Given the description of an element on the screen output the (x, y) to click on. 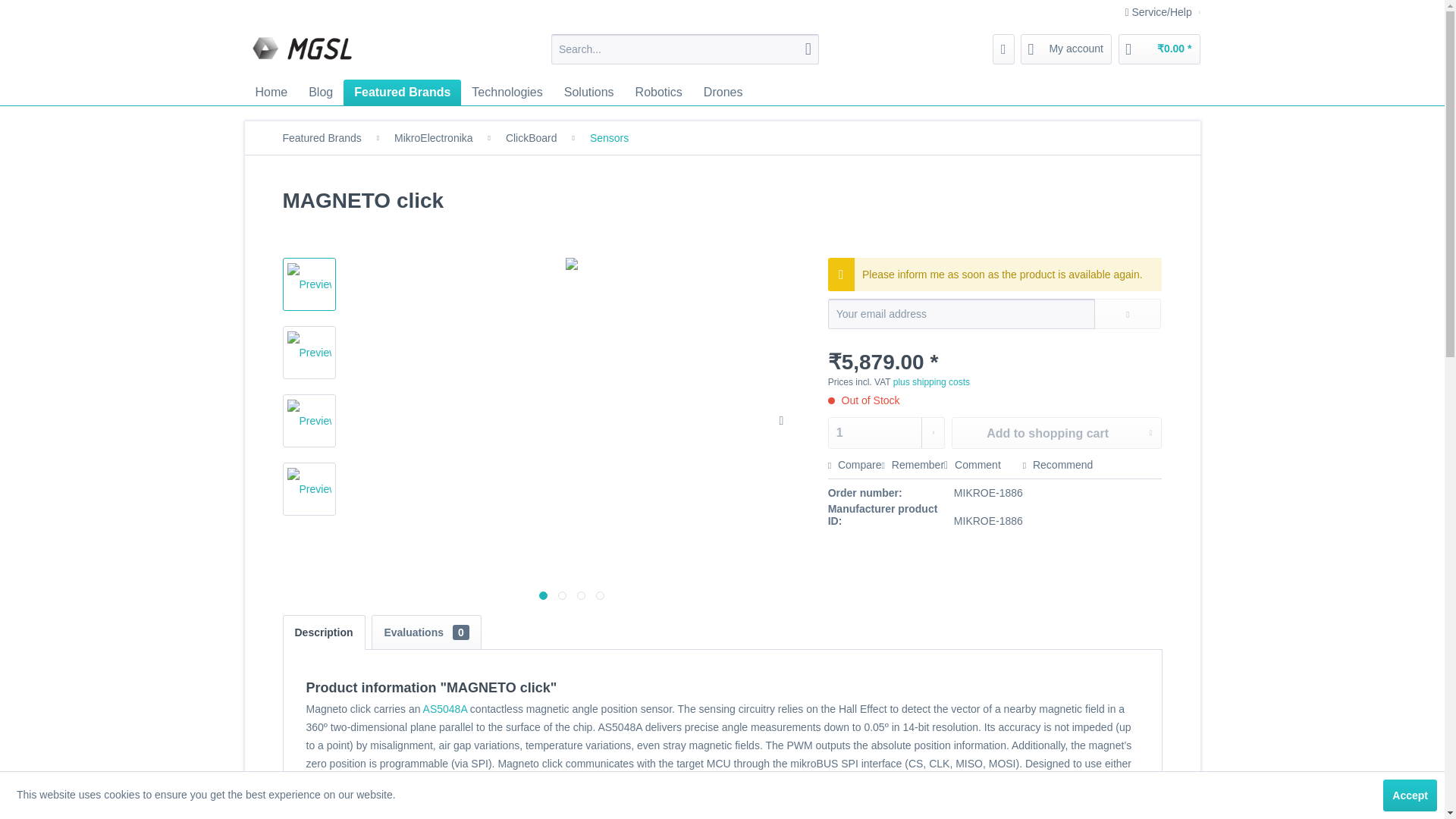
Blog (320, 92)
Solutions (588, 92)
Robotics (658, 92)
Technologies (507, 92)
Technologies (507, 92)
My account (1066, 49)
Drones (723, 92)
Featured Brands (402, 92)
Featured Brands (402, 92)
